Given the description of an element on the screen output the (x, y) to click on. 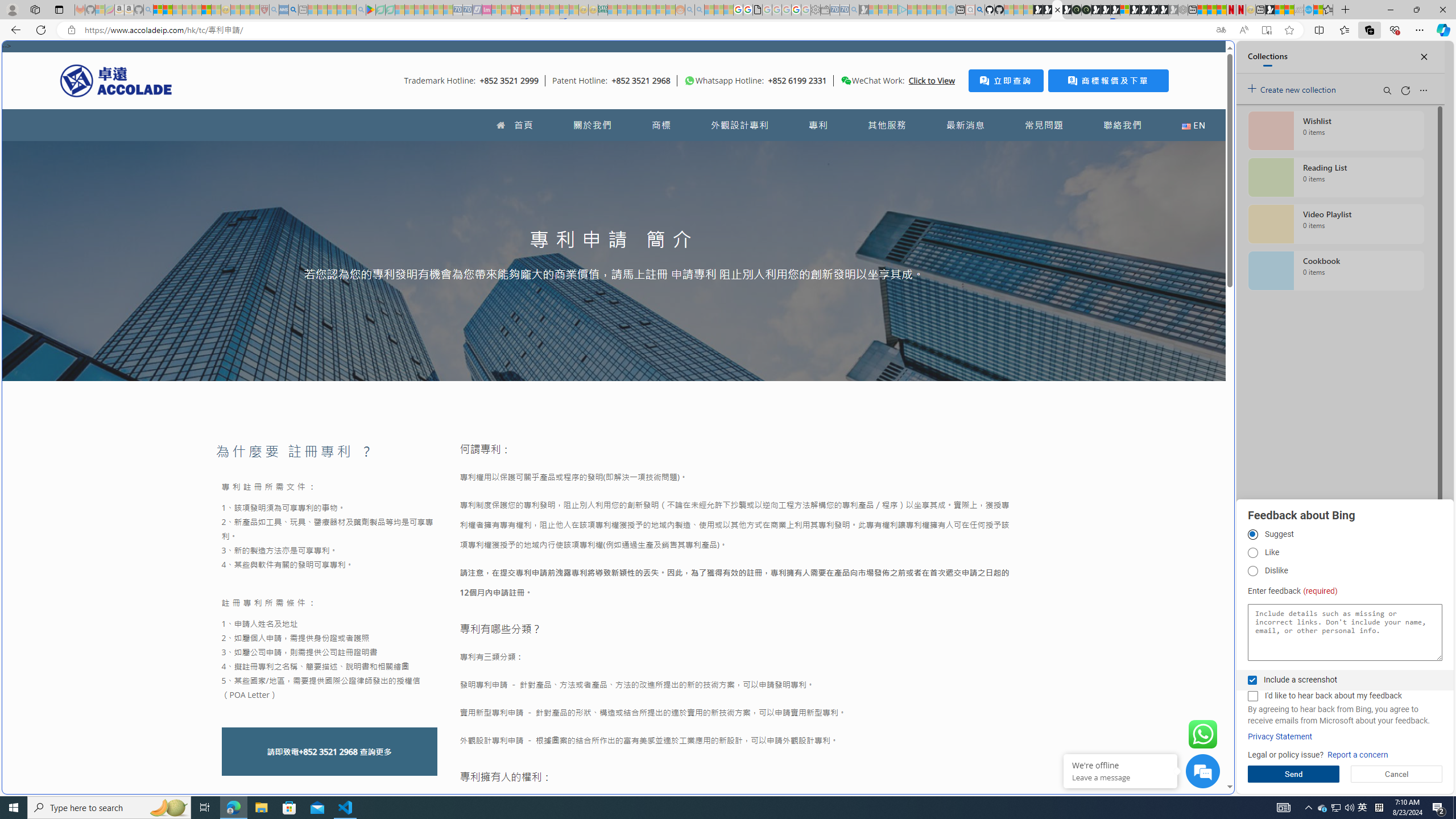
+852 3521 2968 (328, 751)
Tabs you've opened (885, 151)
Settings - Sleeping (815, 9)
Report a concern (1358, 755)
